Given the description of an element on the screen output the (x, y) to click on. 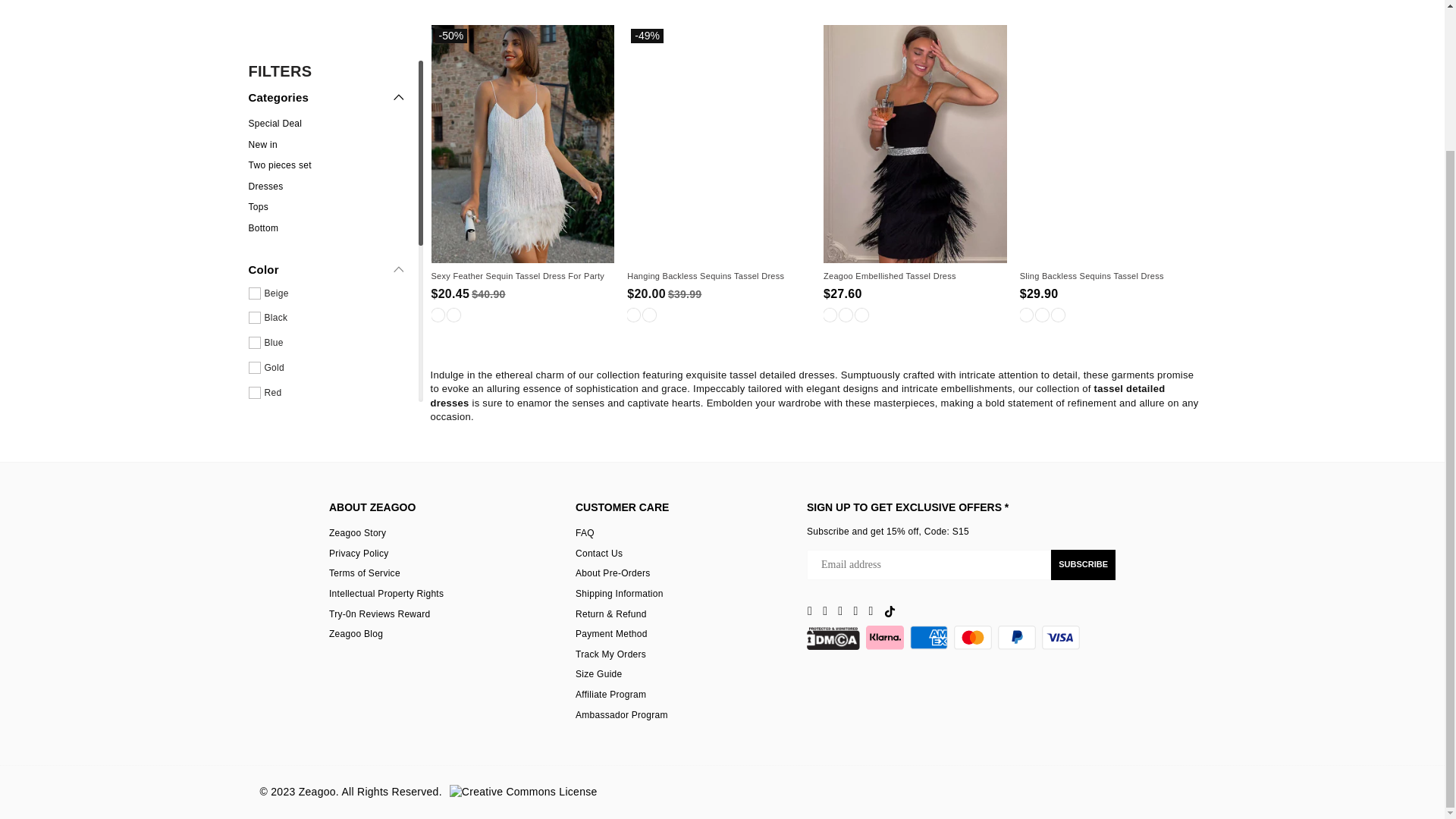
Red (633, 314)
Mastercard (972, 637)
Black (829, 314)
Gold (453, 314)
Zeagoo Embellished Tassel Dress (911, 276)
White (437, 314)
Hanging Backless Sequins Tassel Dress (715, 276)
Visa (1061, 637)
PayPal (1016, 637)
Klarna (885, 637)
American Express (928, 637)
Black (649, 314)
Sexy Feather Sequin Tassel Dress for Party (518, 276)
